Given the description of an element on the screen output the (x, y) to click on. 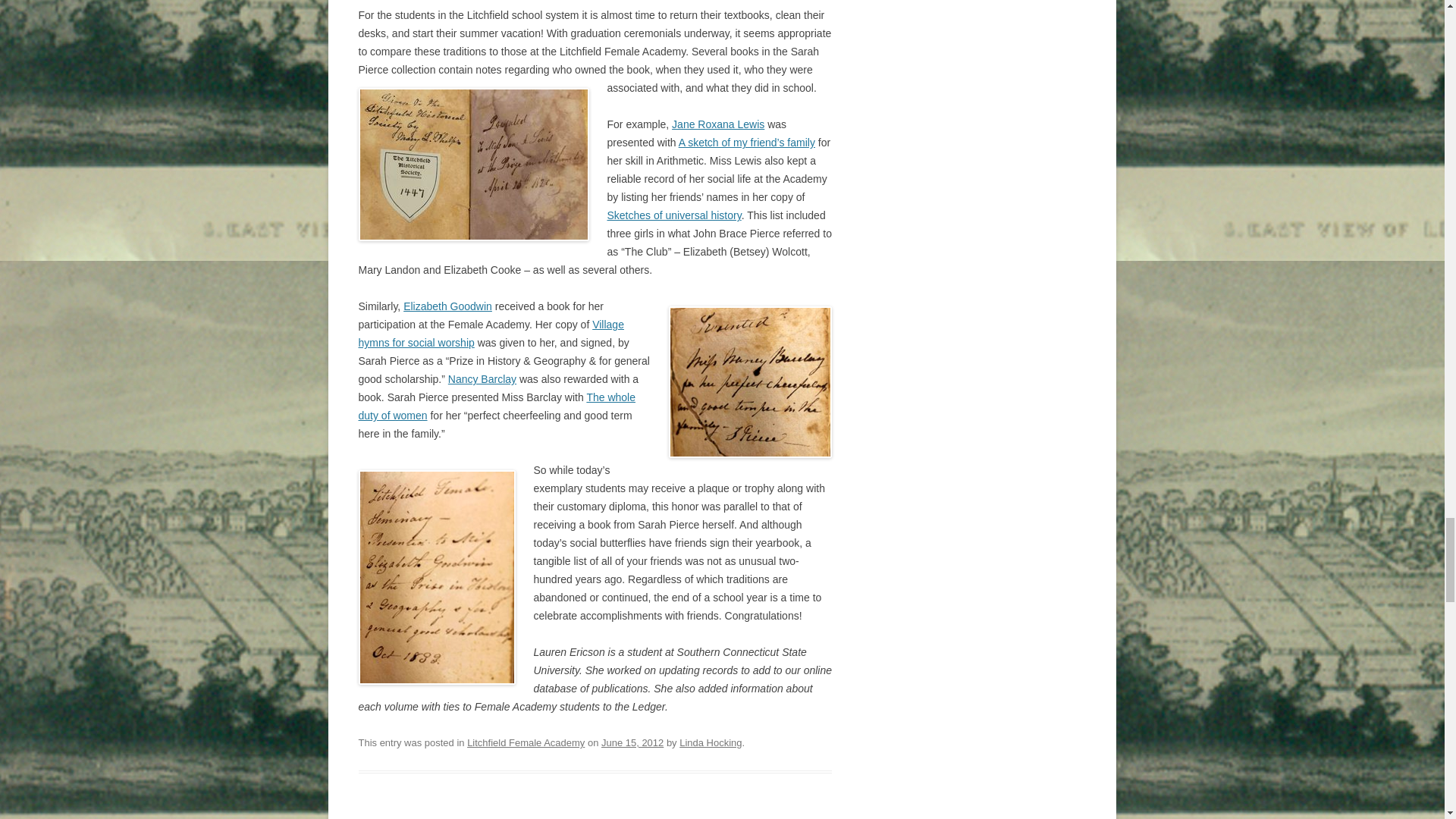
View all posts by Linda Hocking (710, 742)
4:37 pm (632, 742)
